Given the description of an element on the screen output the (x, y) to click on. 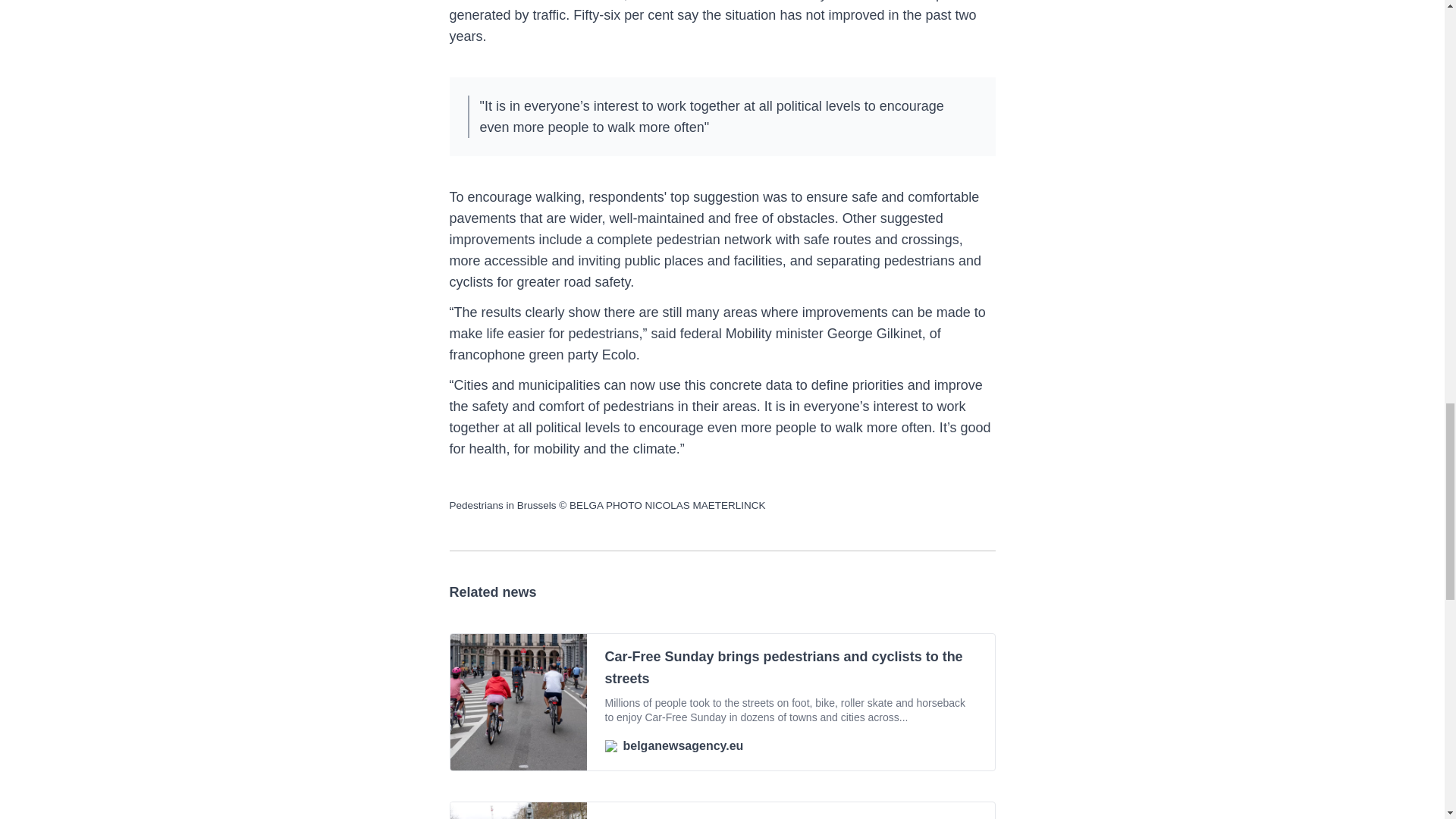
belganewsagency.eu (790, 745)
